Given the description of an element on the screen output the (x, y) to click on. 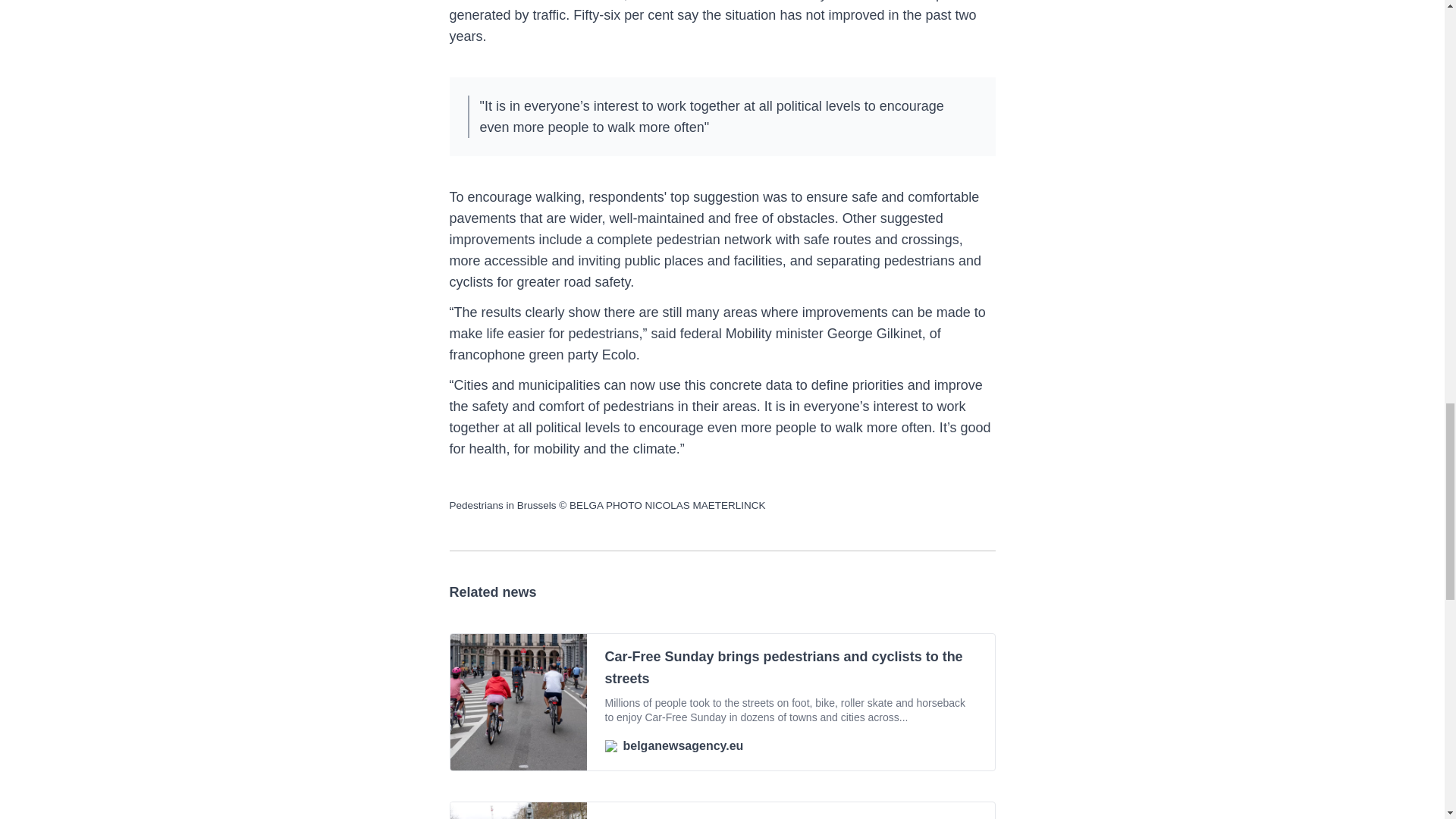
belganewsagency.eu (790, 745)
